Given the description of an element on the screen output the (x, y) to click on. 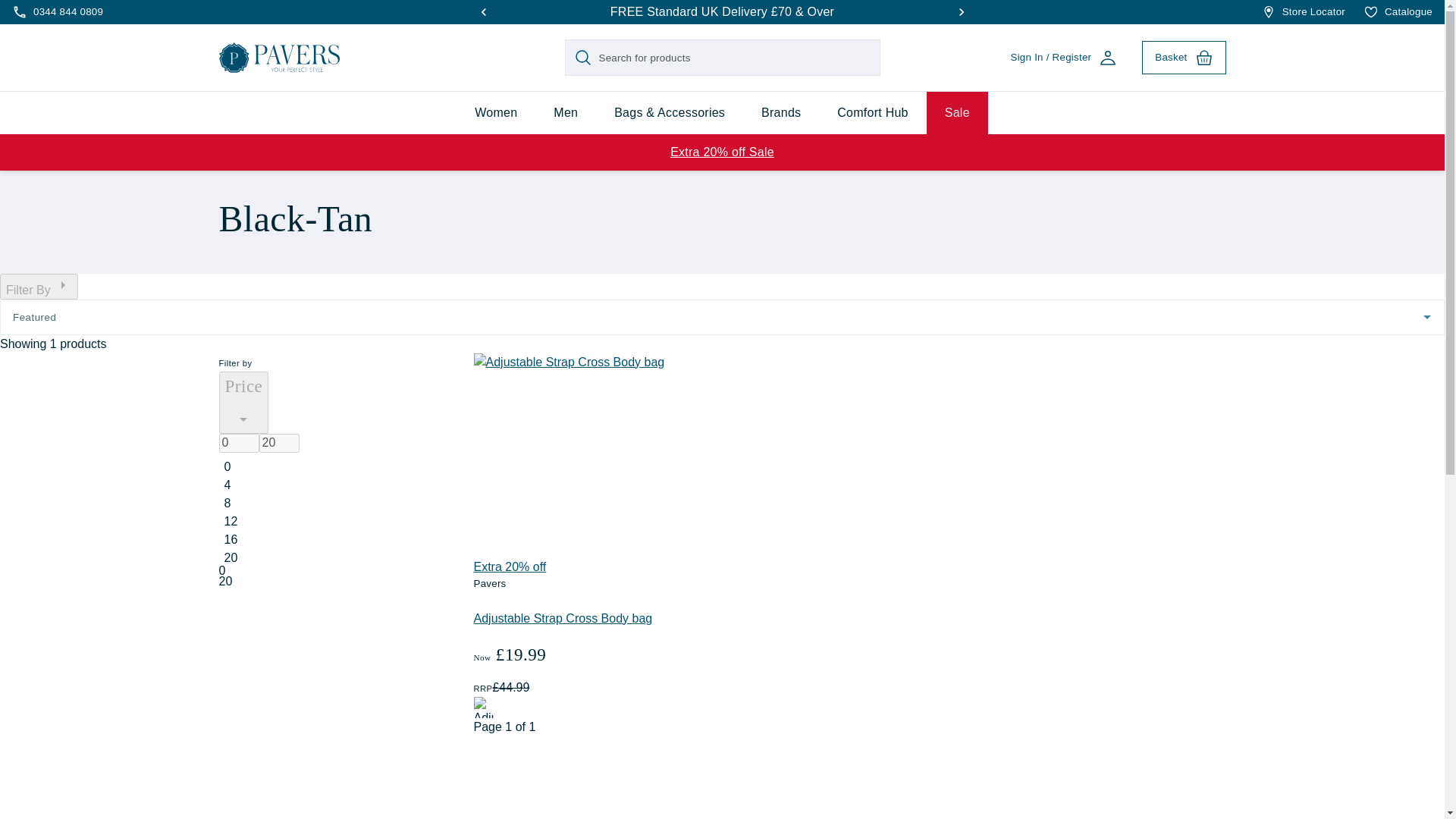
0 (238, 443)
Basket (1183, 57)
Adjustable Strap Cross Body bag (575, 454)
Go to previous slide (484, 11)
Store Locator (1302, 11)
Catalogue (1397, 11)
Pavers (278, 57)
Women (496, 112)
Go to next slide (961, 11)
20 (279, 443)
0344 844 0809 (57, 11)
